Given the description of an element on the screen output the (x, y) to click on. 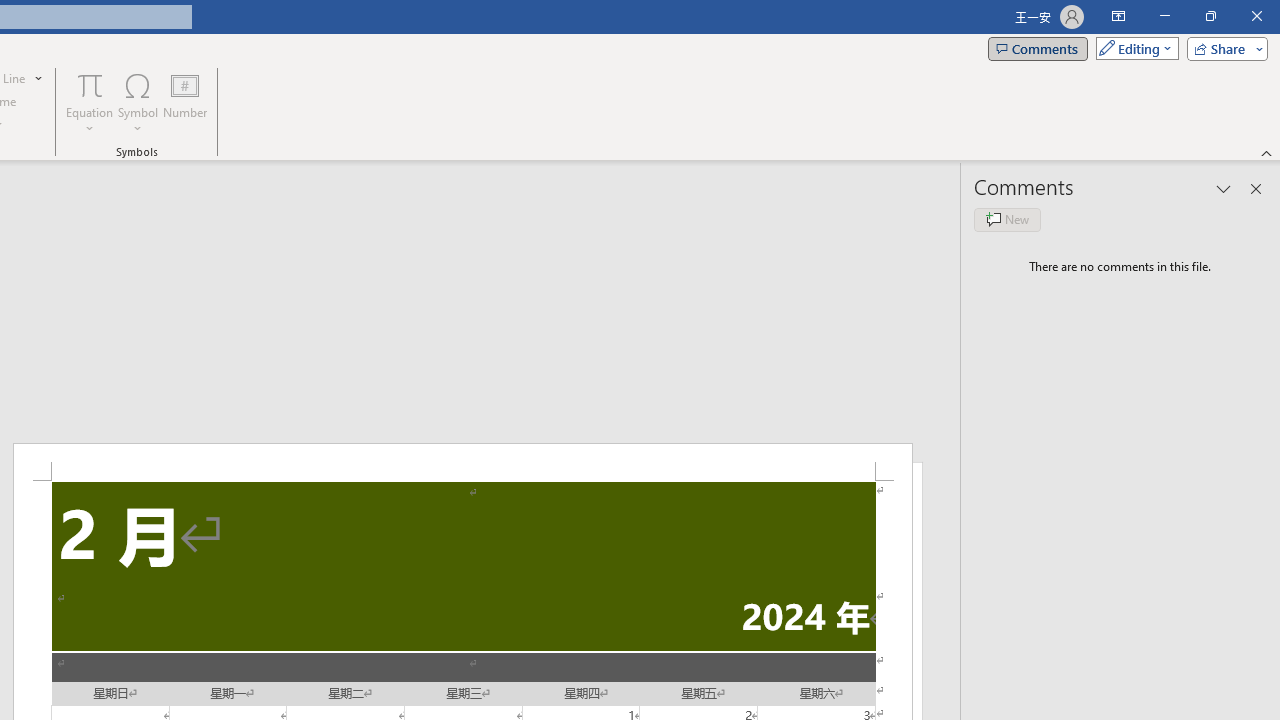
Equation (90, 84)
Header -Section 2- (462, 461)
